Given the description of an element on the screen output the (x, y) to click on. 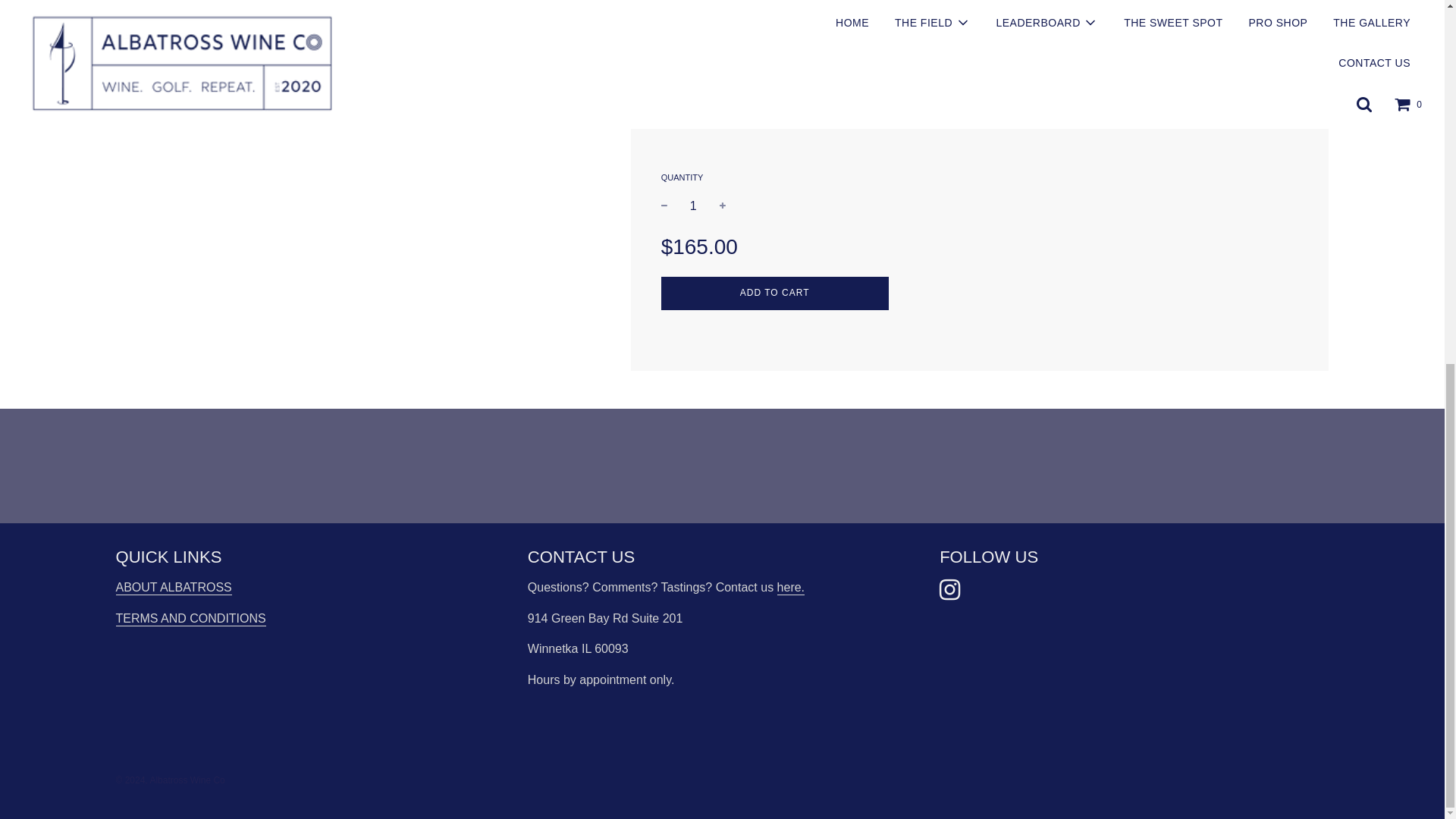
Contact Us (791, 587)
ABOUT ALBATROSS (173, 587)
About Albatross (774, 224)
1 (173, 587)
Terms and Conditions (693, 136)
